Given the description of an element on the screen output the (x, y) to click on. 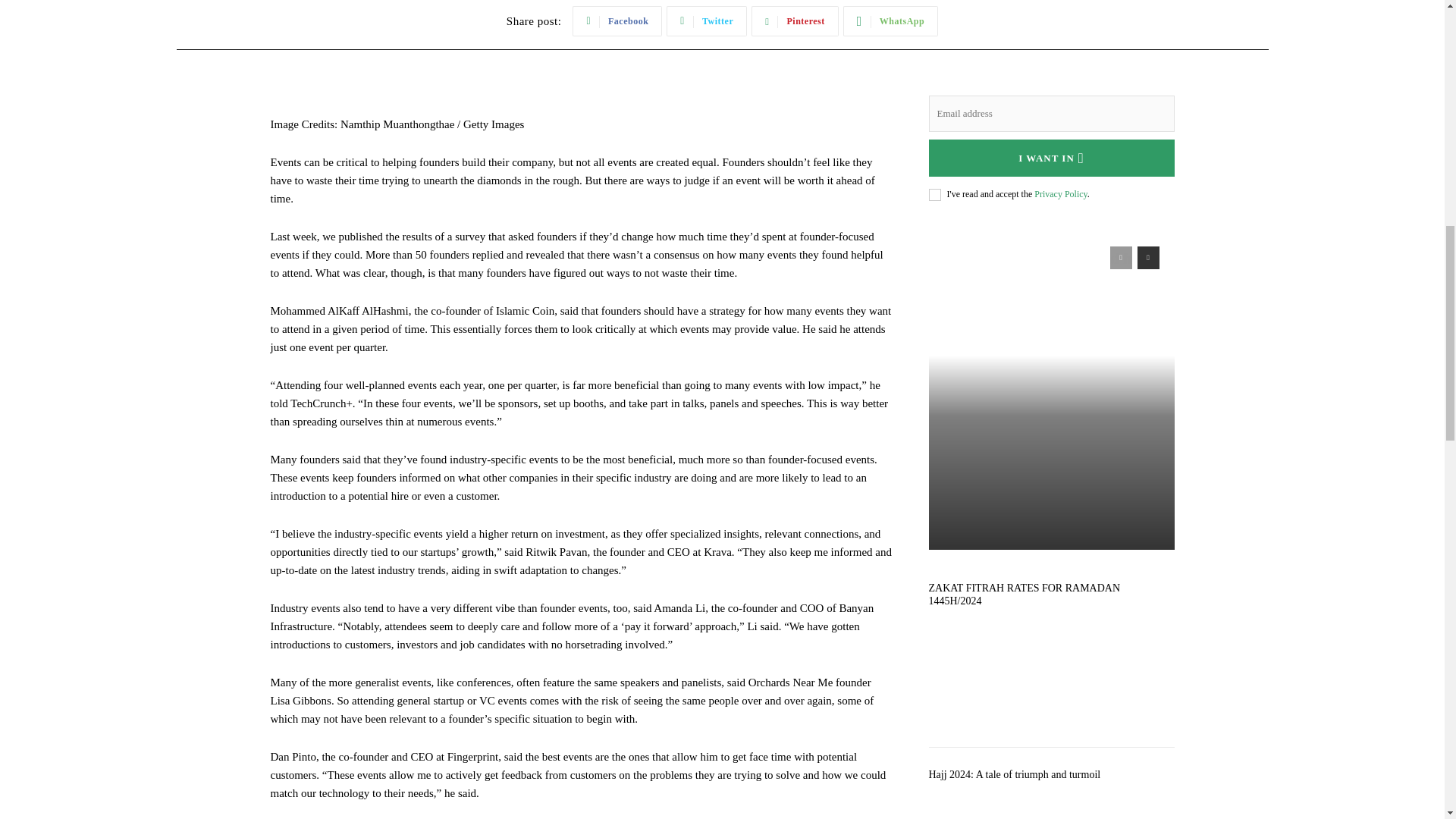
Pinterest (794, 20)
Hajj 2024: A tale of triumph and turmoil (1050, 802)
Facebook (617, 20)
WhatsApp (890, 20)
Twitter (706, 20)
Twitter (706, 20)
WhatsApp (890, 20)
Pinterest (794, 20)
Facebook (617, 20)
